Given the description of an element on the screen output the (x, y) to click on. 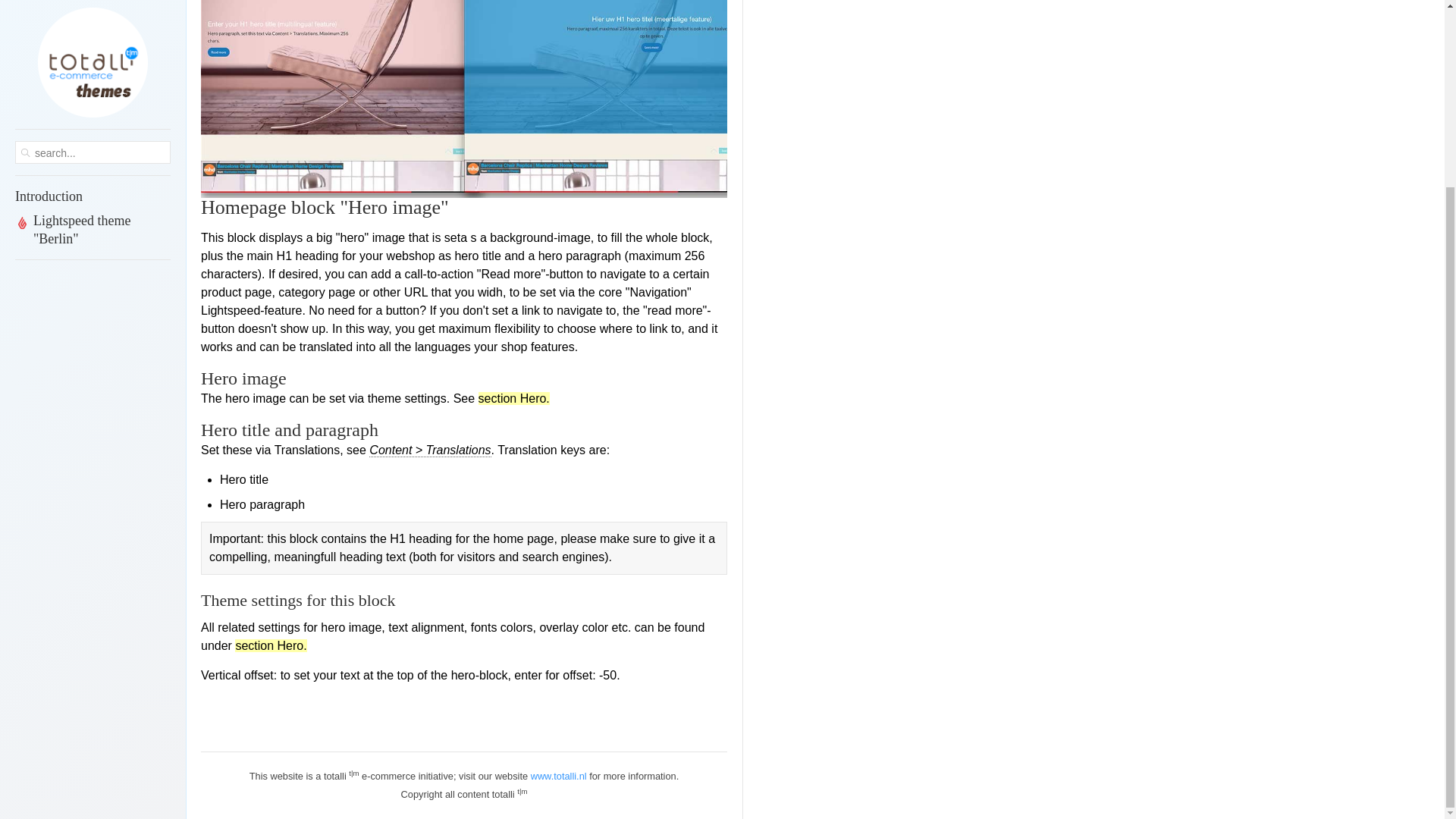
Visit our website for more information about our services (558, 776)
Lightspeed theme "Berlin" (92, 7)
